Given the description of an element on the screen output the (x, y) to click on. 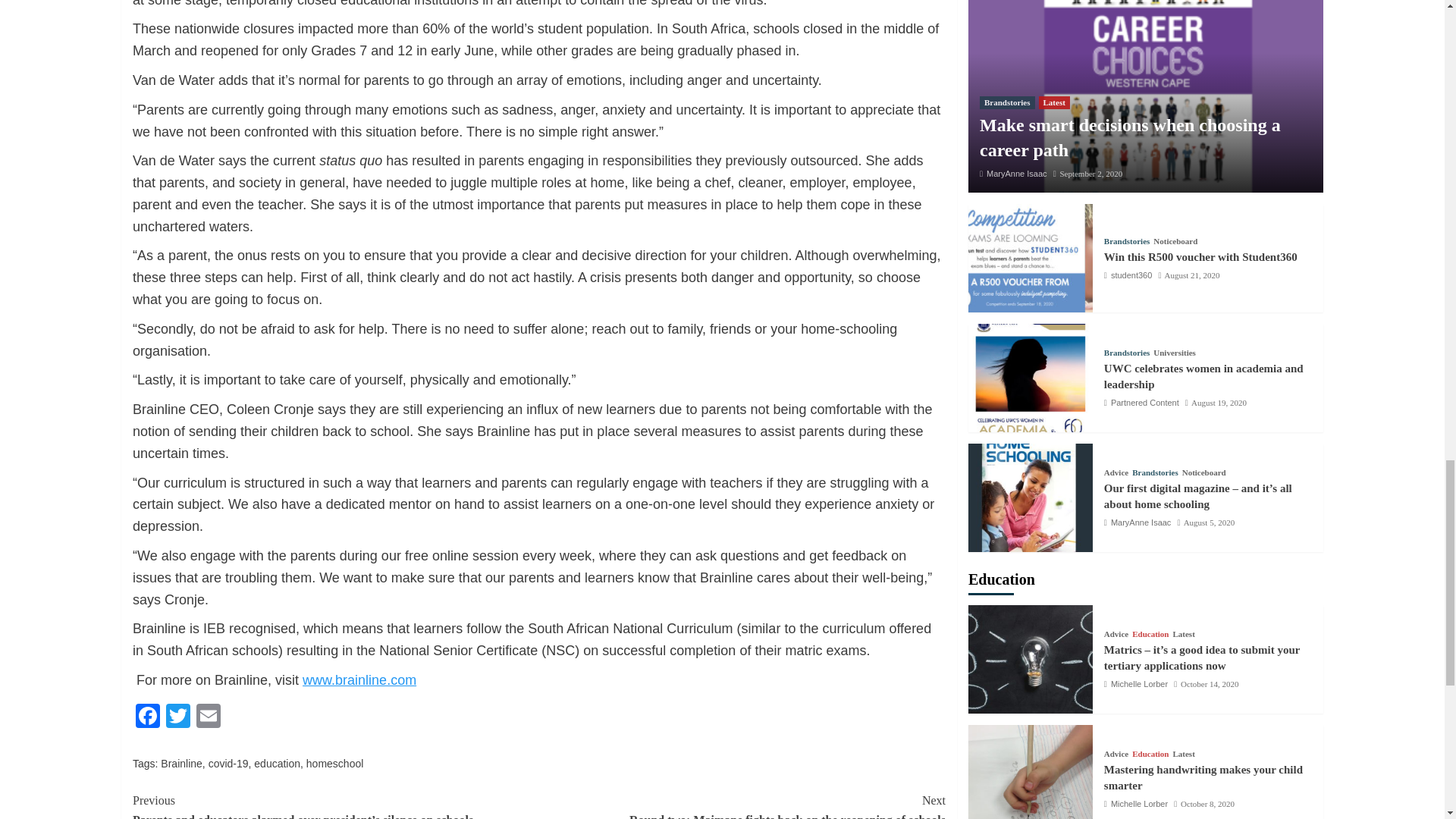
www.brainline.com (359, 679)
homeschool (334, 763)
Email (208, 717)
Brainline (181, 763)
Email (208, 717)
covid-19 (228, 763)
Facebook (147, 717)
Facebook (147, 717)
Twitter (178, 717)
education (276, 763)
Twitter (178, 717)
